Given the description of an element on the screen output the (x, y) to click on. 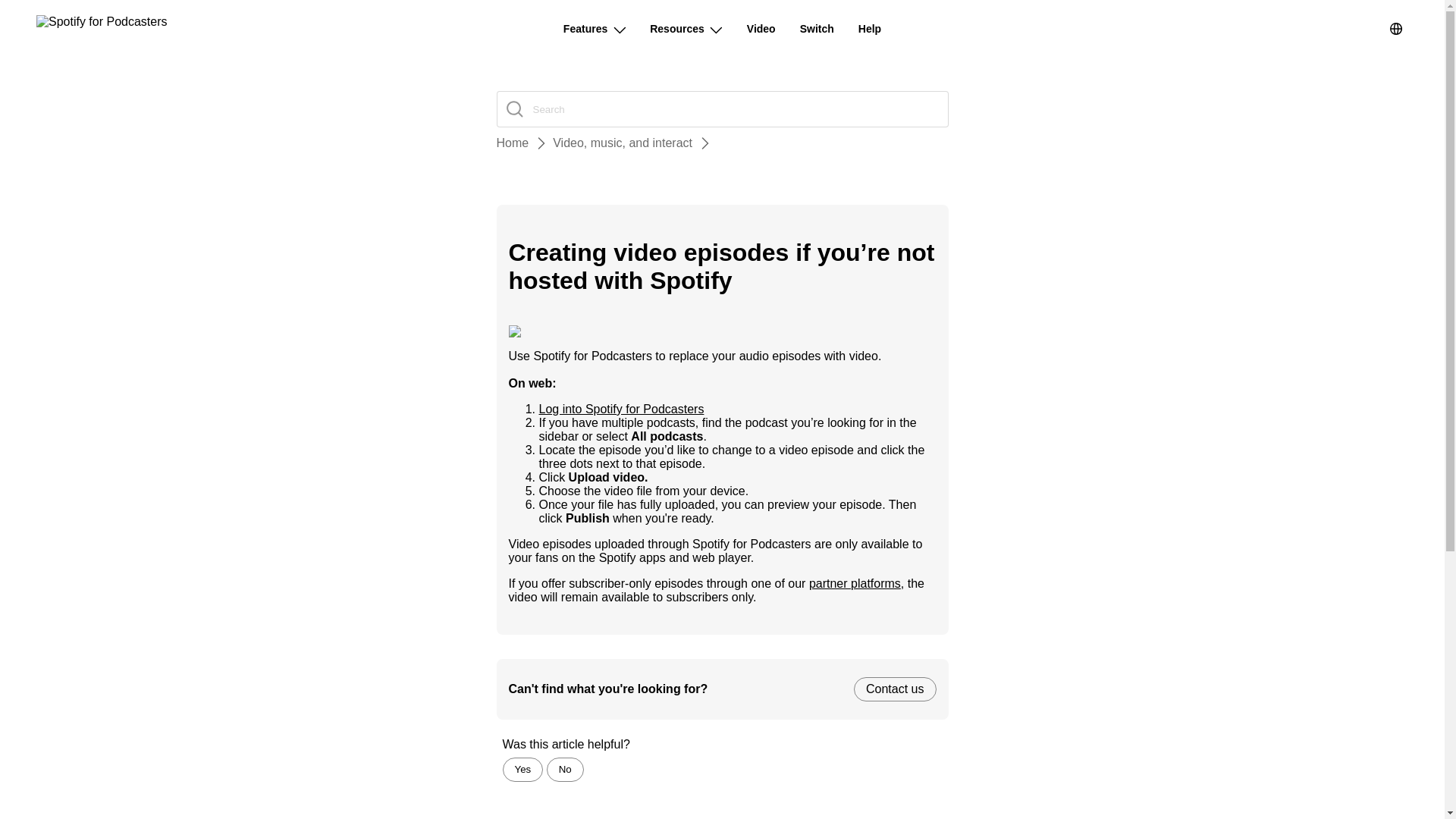
partner platforms (855, 583)
Video, music, and interact (623, 142)
Contact us (894, 689)
No (565, 769)
Resources (685, 28)
Home (512, 142)
Yes (522, 769)
Log into Spotify for Podcasters (620, 408)
Switch (816, 28)
Spotify for Podcasters (101, 28)
Features (594, 28)
Video (761, 28)
Help (869, 28)
